Given the description of an element on the screen output the (x, y) to click on. 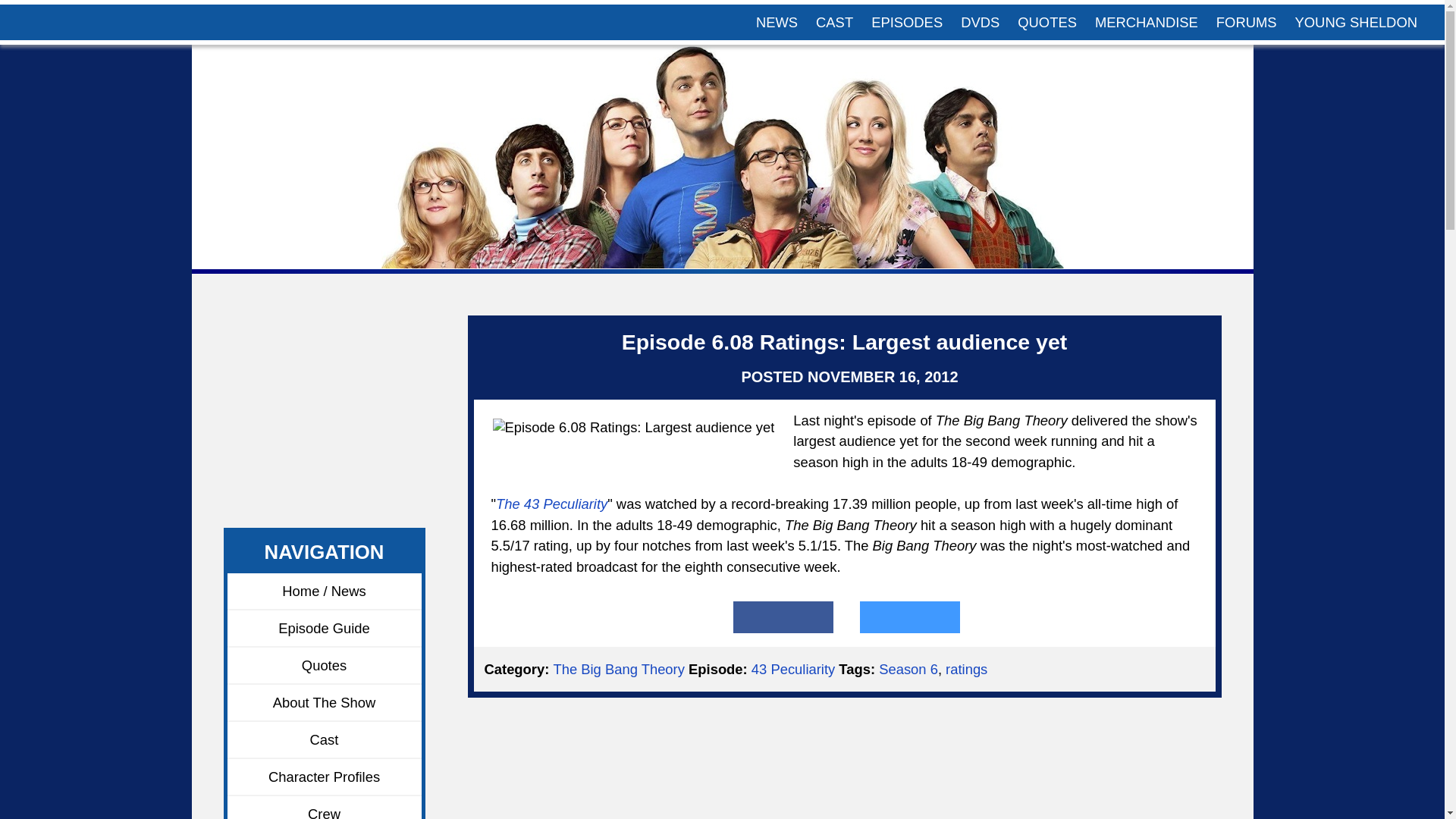
MERCHANDISE (1146, 22)
YOUNG SHELDON (1355, 22)
About The Show (324, 702)
Episode Guide (324, 628)
EPISODES (906, 22)
NEWS (776, 22)
Crew (324, 807)
FORUMS (1246, 22)
Quotes (324, 665)
Cast (324, 740)
CAST (833, 22)
QUOTES (1047, 22)
Character Profiles (324, 777)
DVDS (980, 22)
